Given the description of an element on the screen output the (x, y) to click on. 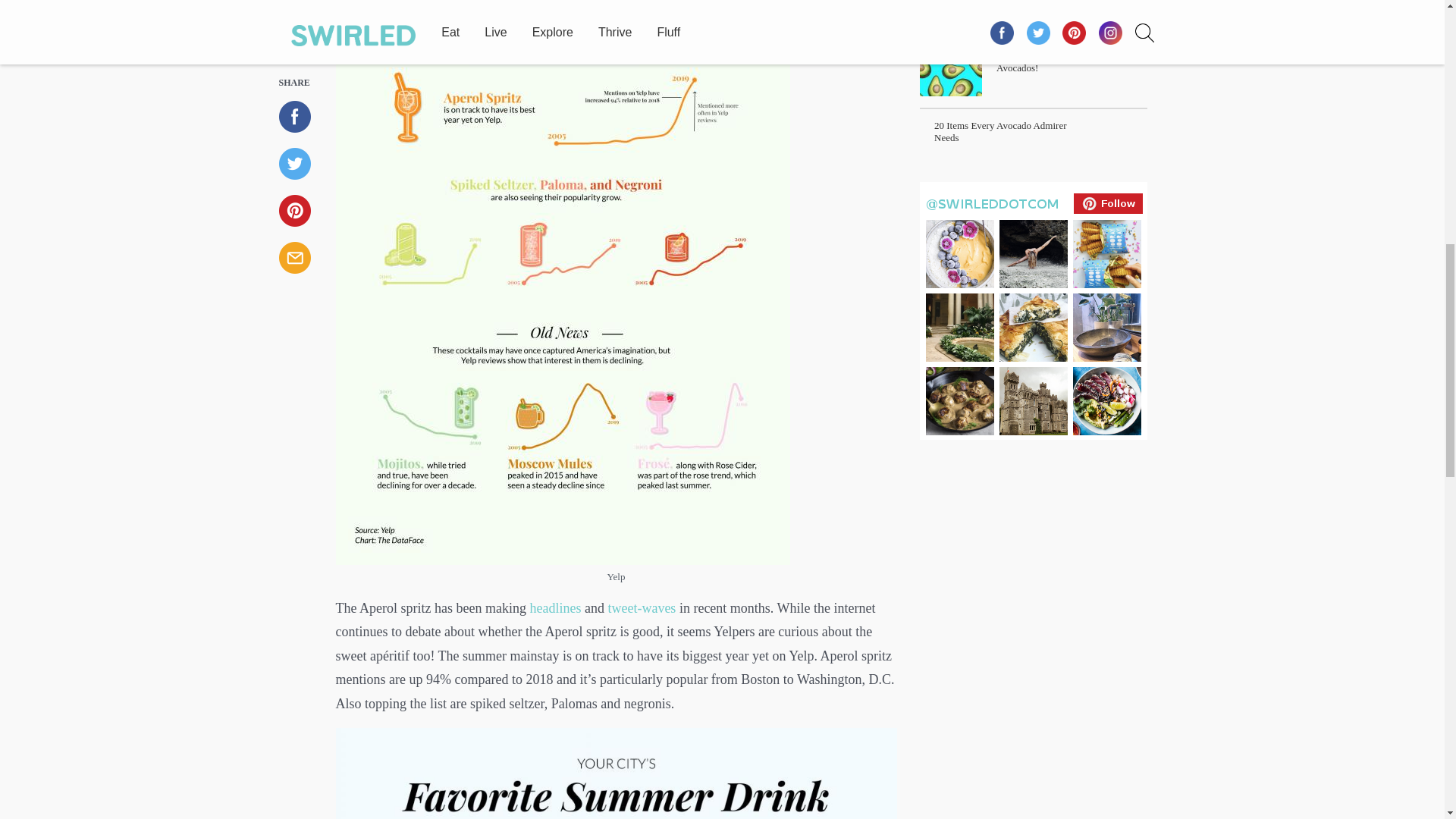
Pinterest (1032, 308)
